Given the description of an element on the screen output the (x, y) to click on. 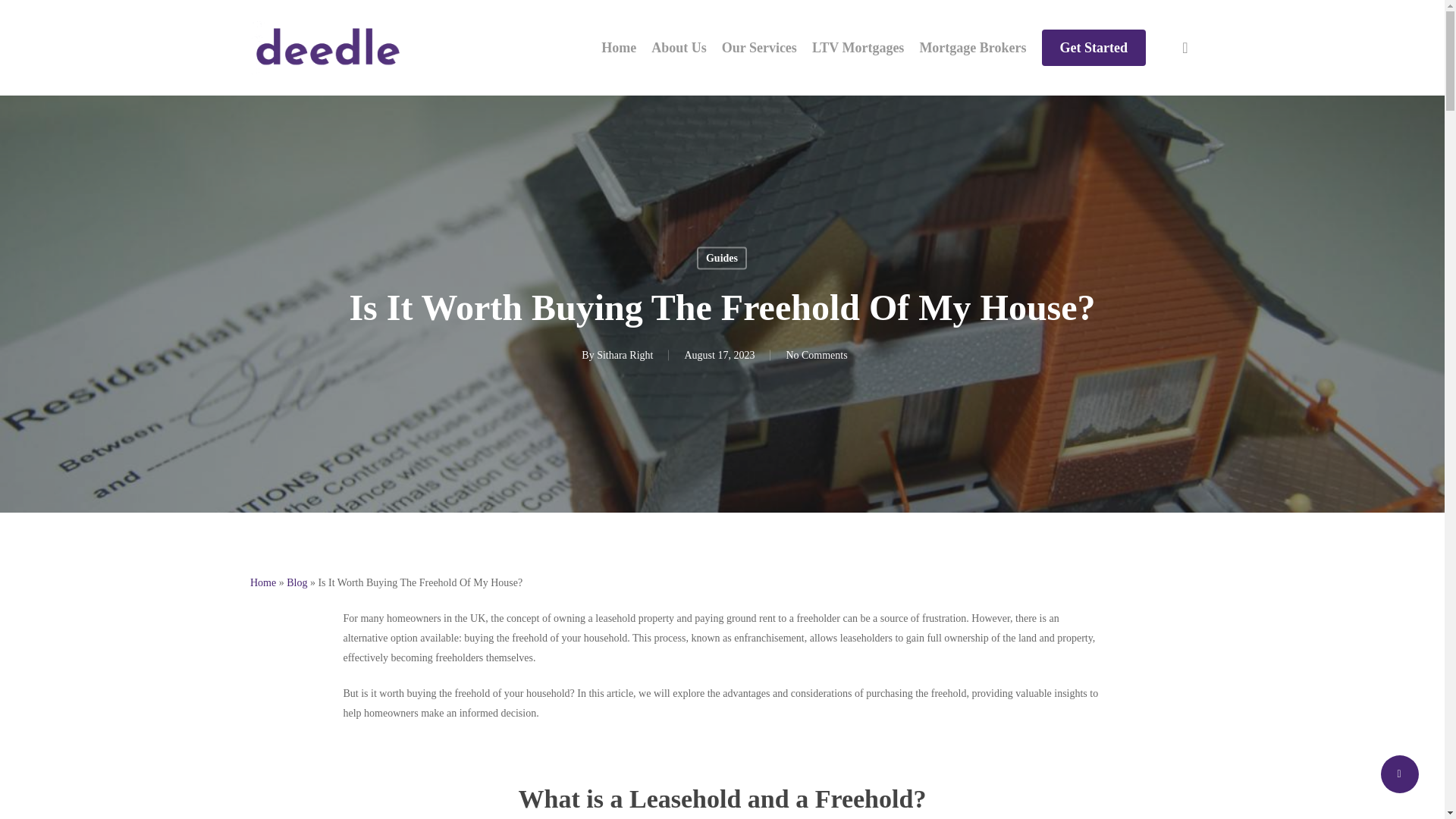
Home (618, 47)
Mortgage Brokers (972, 47)
Our Services (759, 47)
About Us (678, 47)
search (1184, 47)
Posts by Sithara Right (624, 354)
LTV Mortgages (858, 47)
Guides (721, 258)
No Comments (816, 354)
Sithara Right (624, 354)
